Given the description of an element on the screen output the (x, y) to click on. 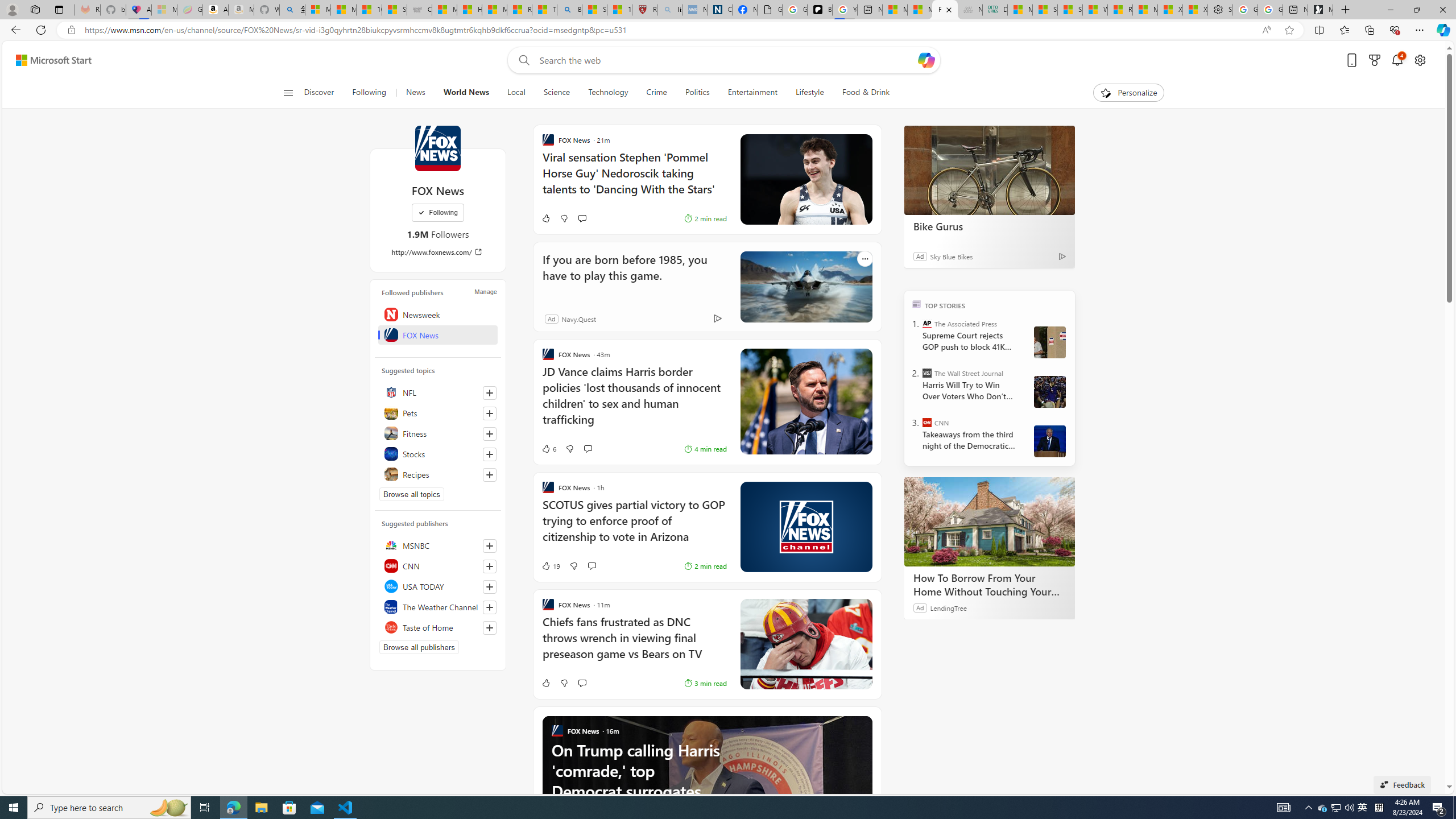
Bike Gurus (988, 226)
If you are born before 1985, you have to play this game. (630, 274)
